Given the description of an element on the screen output the (x, y) to click on. 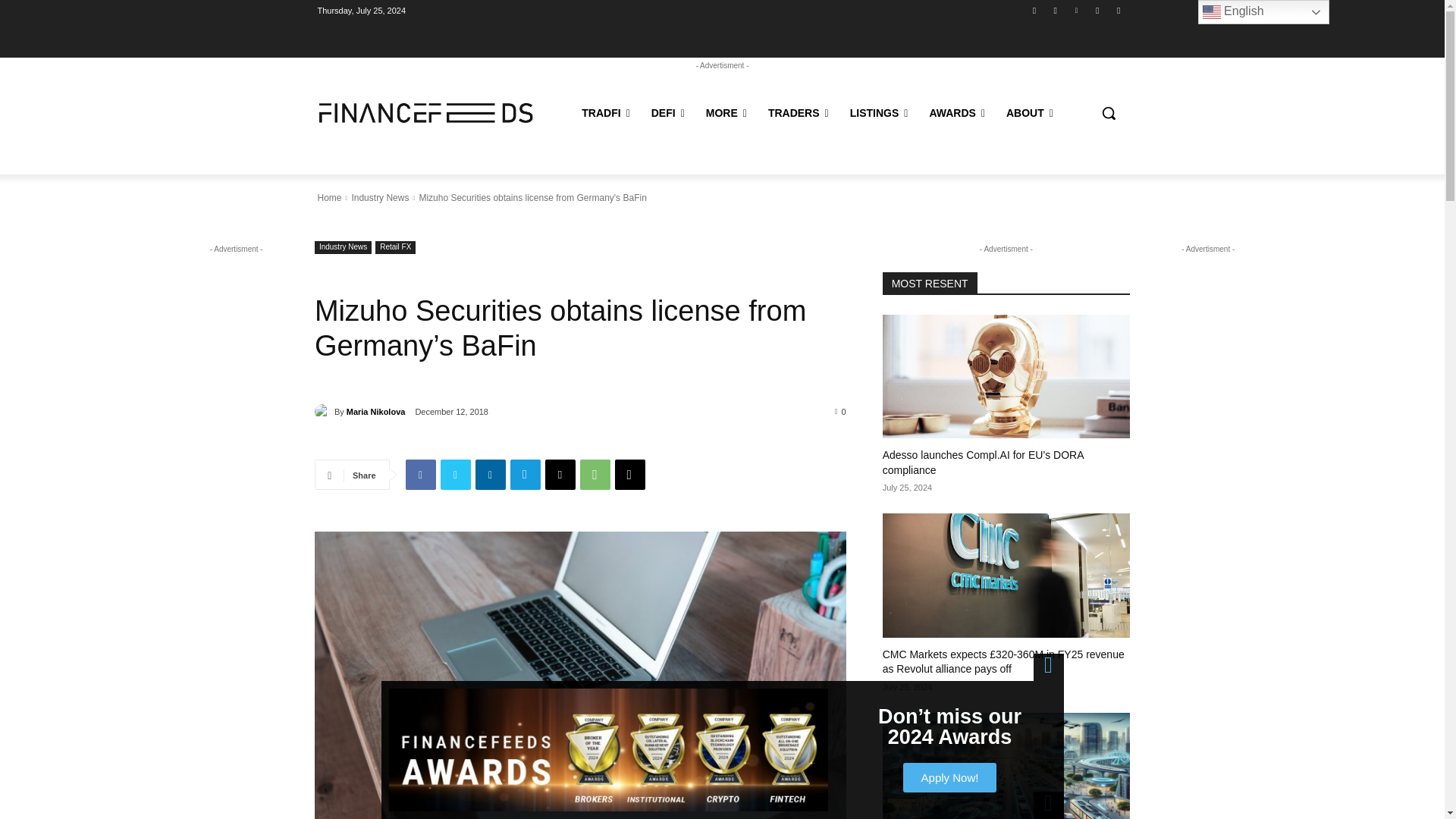
Facebook (420, 474)
Maria Nikolova (324, 411)
Linkedin (1075, 9)
Rss (1097, 9)
View all posts in Industry News (379, 197)
Twitter (455, 474)
Facebook (1034, 9)
Youtube (1055, 9)
Twitter (1117, 9)
